Given the description of an element on the screen output the (x, y) to click on. 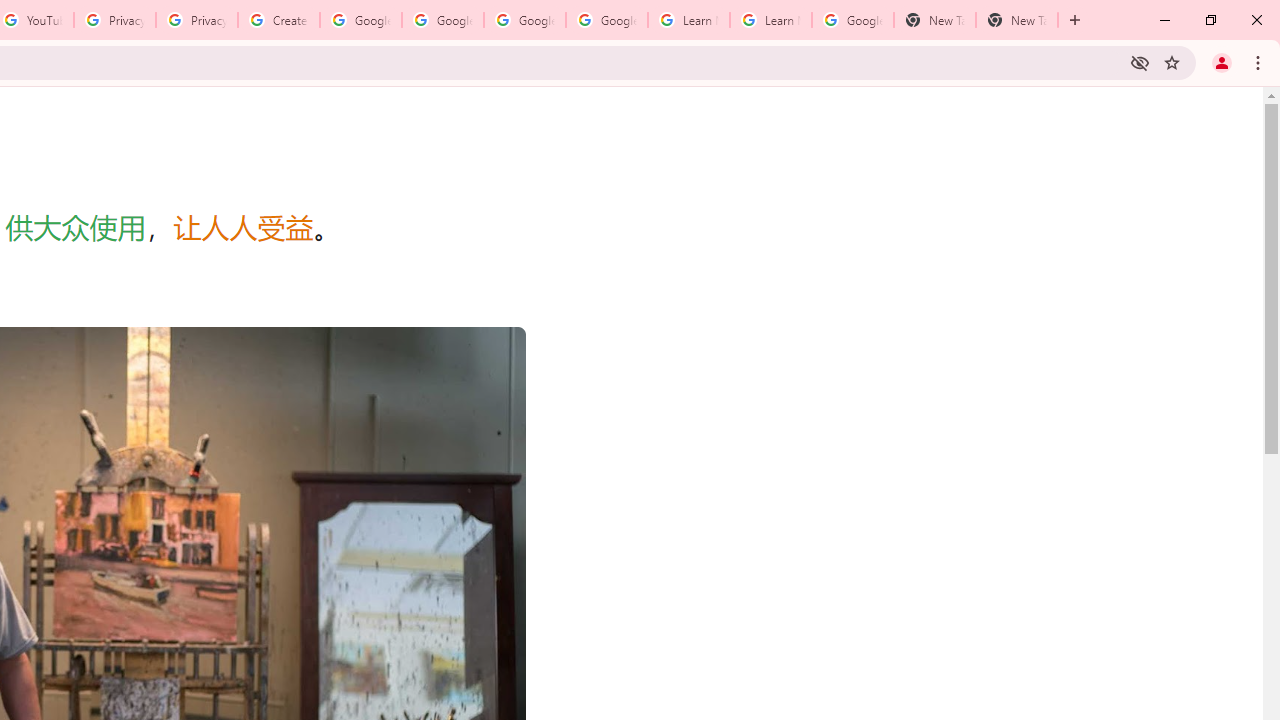
Google Account Help (524, 20)
New Tab (934, 20)
Google Account (852, 20)
Bookmark this tab (1171, 62)
Google Account Help (360, 20)
Close (1256, 20)
New Tab (1016, 20)
Third-party cookies blocked (1139, 62)
Create your Google Account (278, 20)
Google Account Help (606, 20)
Google Account Help (442, 20)
New Tab (1075, 20)
